Given the description of an element on the screen output the (x, y) to click on. 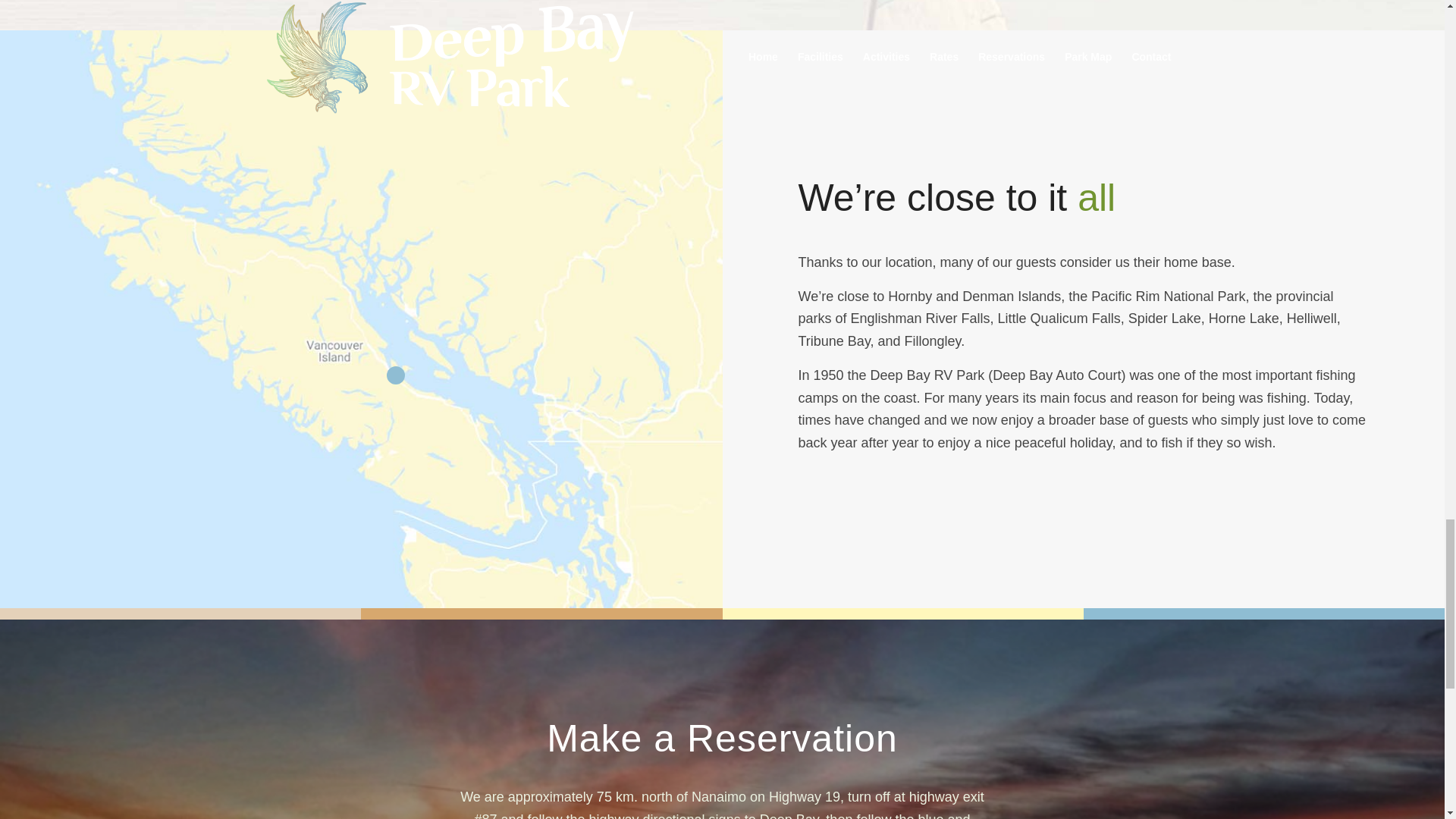
1 (395, 375)
